Given the description of an element on the screen output the (x, y) to click on. 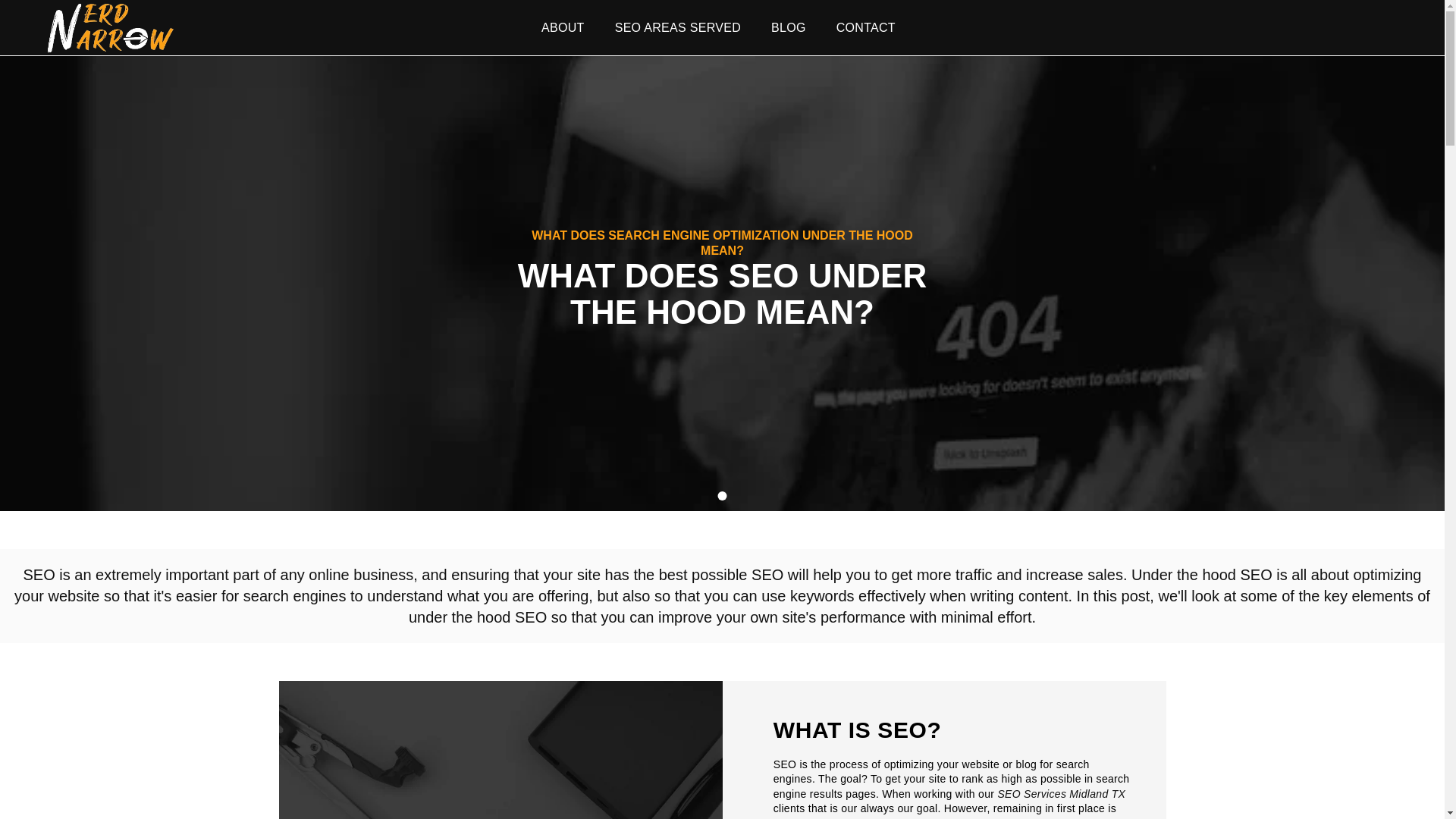
WHAT DOES SEARCH ENGINE OPTIMIZATION UNDER THE HOOD MEAN? (721, 243)
1 (721, 495)
SEO AREAS SERVED (678, 27)
CONTACT (866, 27)
SEO Services Midland TX (1061, 793)
ABOUT (562, 27)
NERD NARROW (109, 27)
SEO Services Midland TX (1061, 793)
BLOG (788, 27)
